Given the description of an element on the screen output the (x, y) to click on. 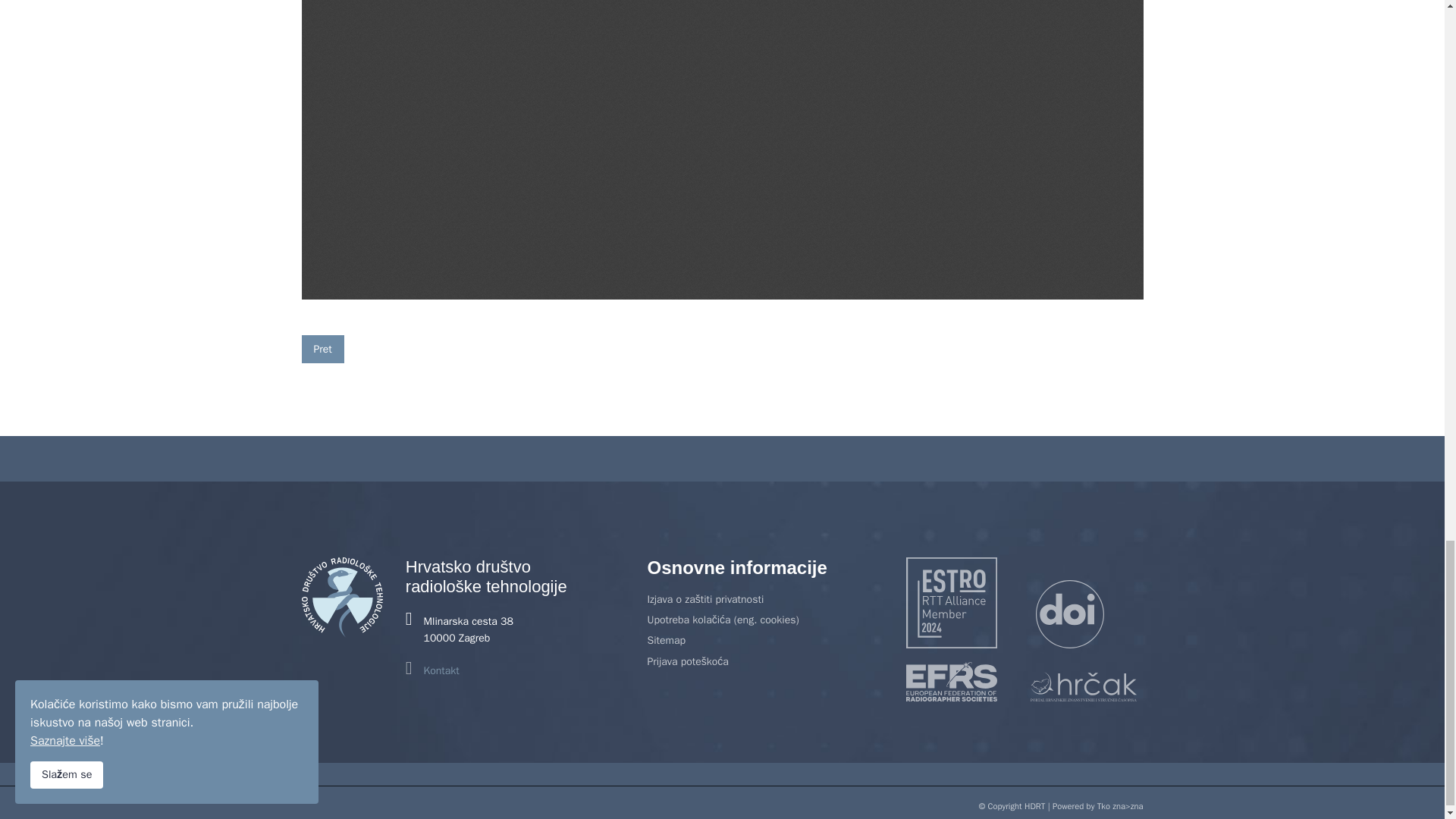
Kontakt (441, 670)
Sitemap (764, 640)
